Given the description of an element on the screen output the (x, y) to click on. 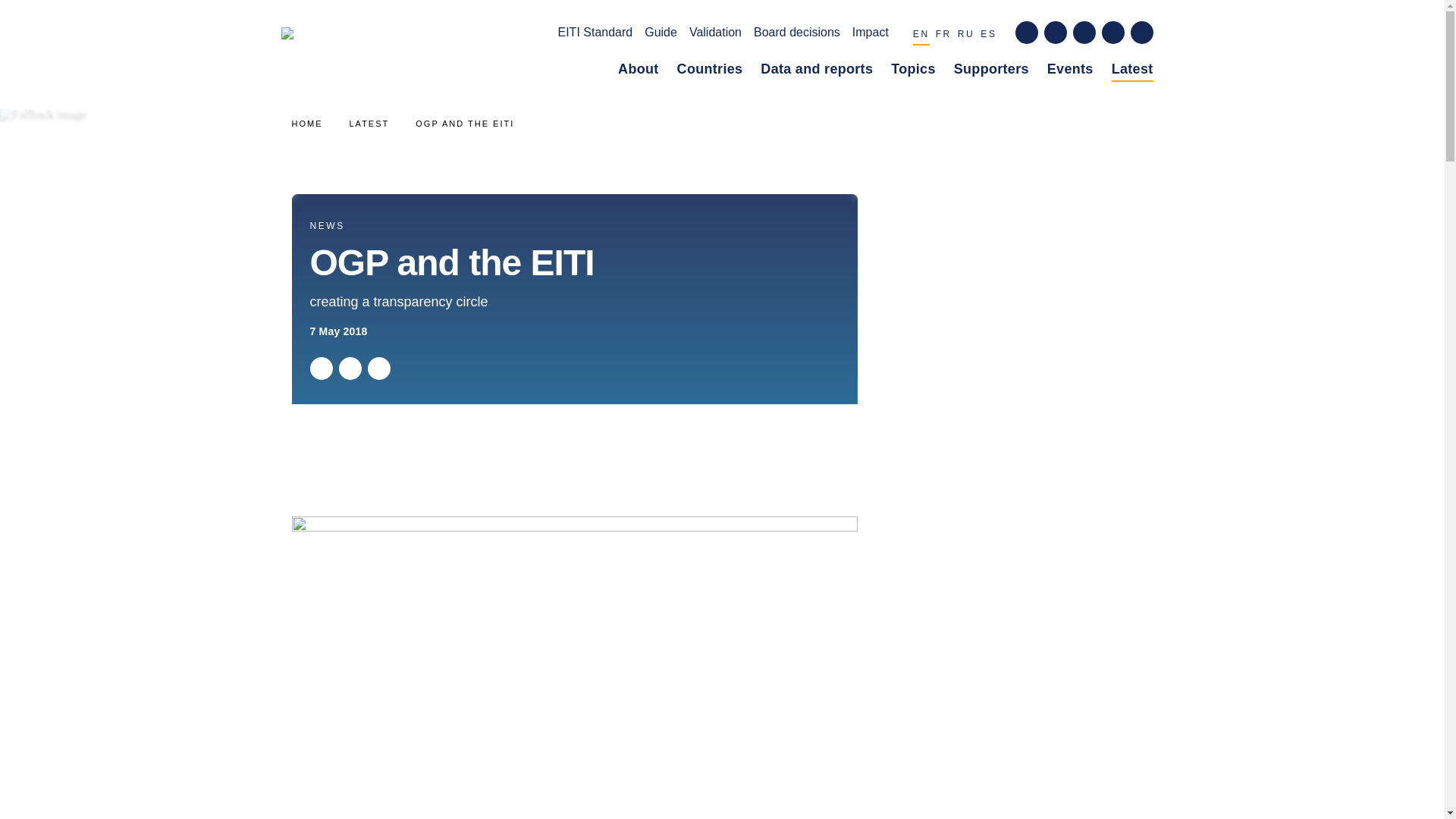
ES (987, 36)
RU (966, 36)
Follow us on Linkedin (1082, 32)
EITI Standard (594, 35)
Find us on YouTube (1112, 32)
Guide (661, 35)
Impact (869, 35)
FR (944, 36)
Facebook (349, 368)
Follow us on Twitter (1054, 32)
